Given the description of an element on the screen output the (x, y) to click on. 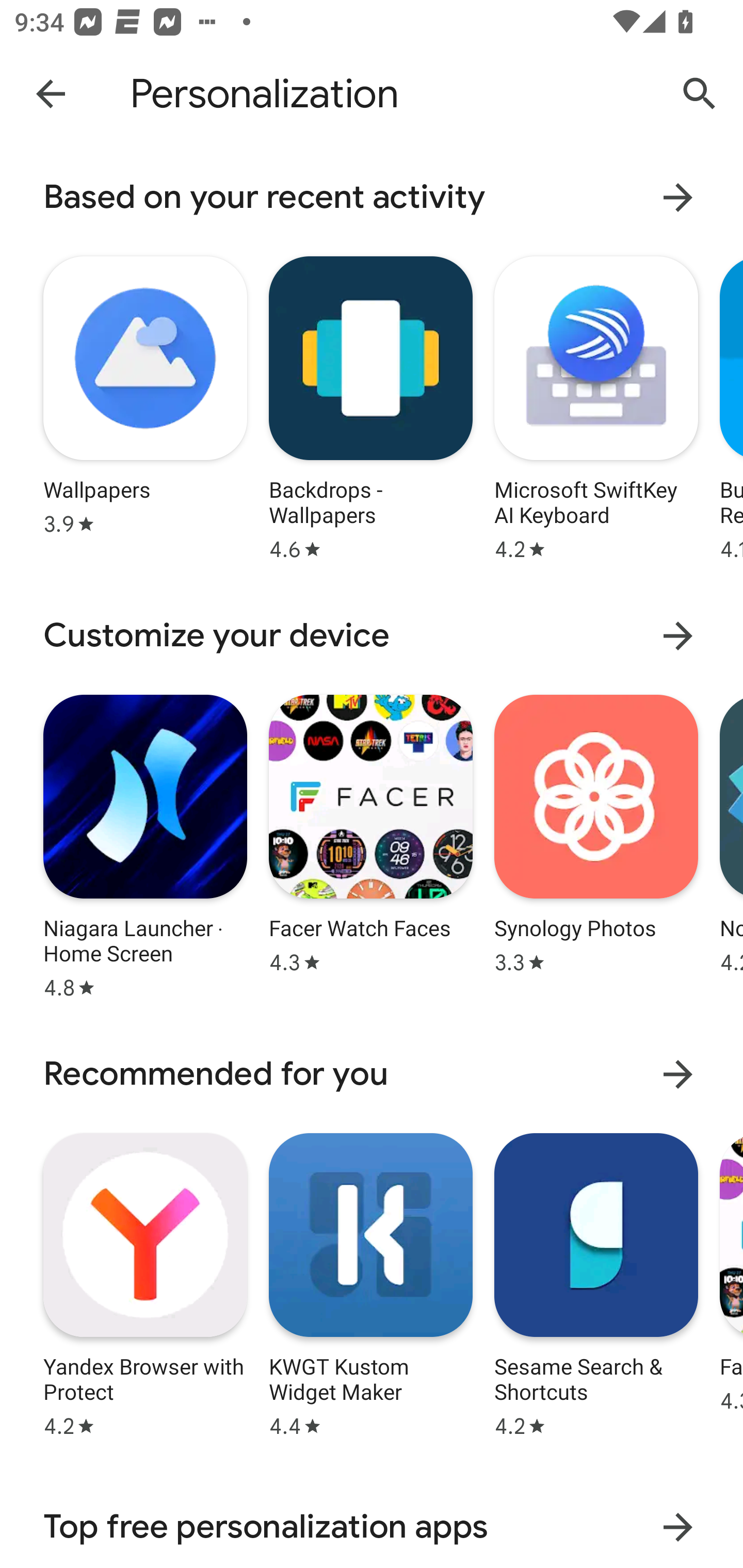
Navigate up (50, 92)
Search Google Play (699, 93)
More results for Based on your recent activity (677, 197)
App: Wallpapers
Star rating: 3.9


 (144, 405)
App: Backdrops - Wallpapers
Star rating: 4.6


 (370, 405)
More results for Customize your device (677, 635)
App: Facer Watch Faces
Star rating: 4.3


 (370, 844)
App: Synology Photos
Star rating: 3.3


 (595, 844)
More results for Recommended for you (677, 1074)
App: KWGT Kustom Widget Maker
Star rating: 4.4


 (370, 1282)
App: Sesame Search & Shortcuts
Star rating: 4.2


 (595, 1282)
More results for Top free personalization apps (677, 1527)
